Given the description of an element on the screen output the (x, y) to click on. 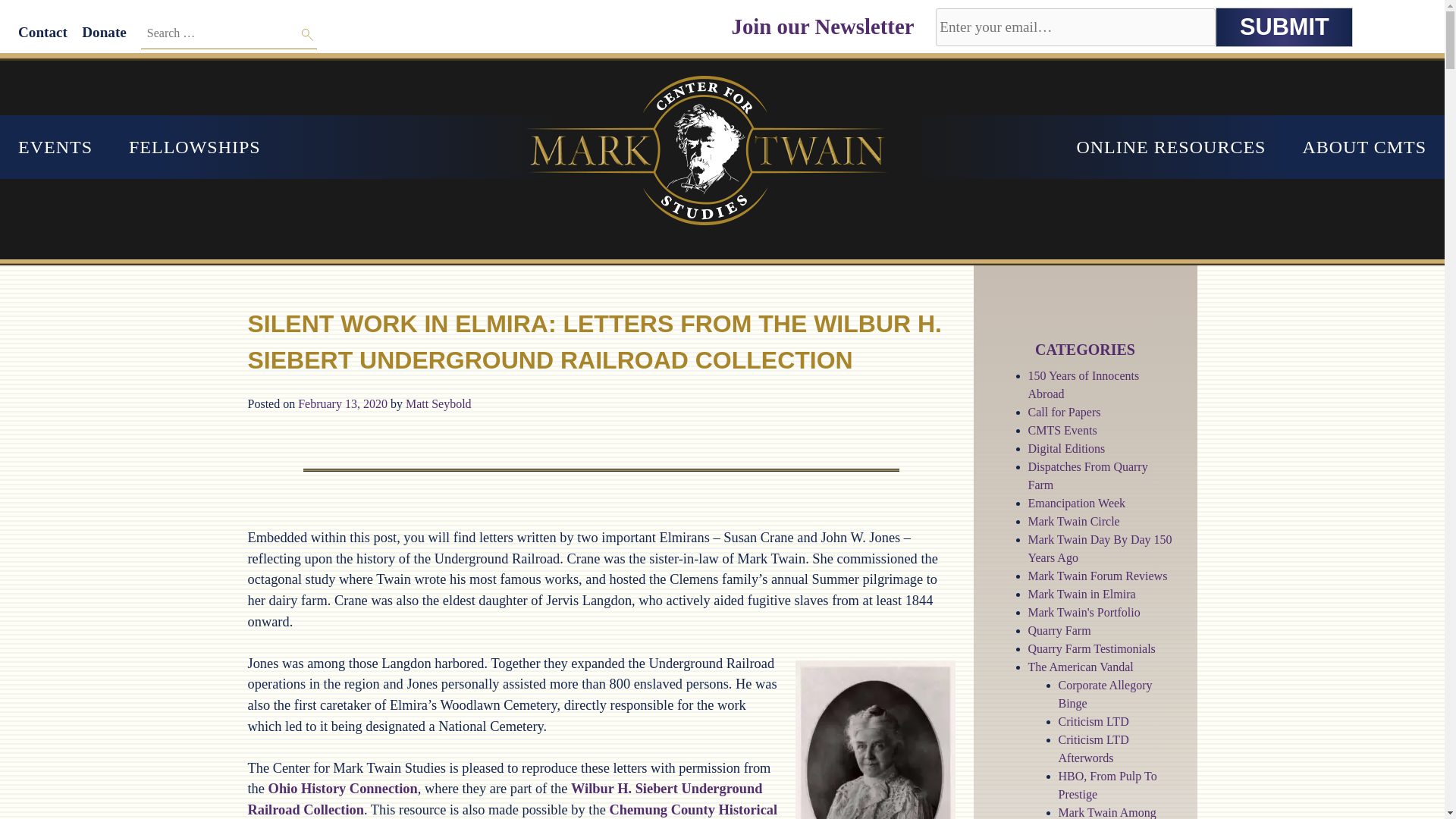
FELLOWSHIPS (194, 147)
Search (307, 34)
Submit (1283, 26)
ONLINE RESOURCES (1171, 147)
EVENTS (55, 147)
Donate (103, 32)
Center for Mark Twain Studies (75, 69)
Contact (41, 32)
Submit (1283, 26)
